Given the description of an element on the screen output the (x, y) to click on. 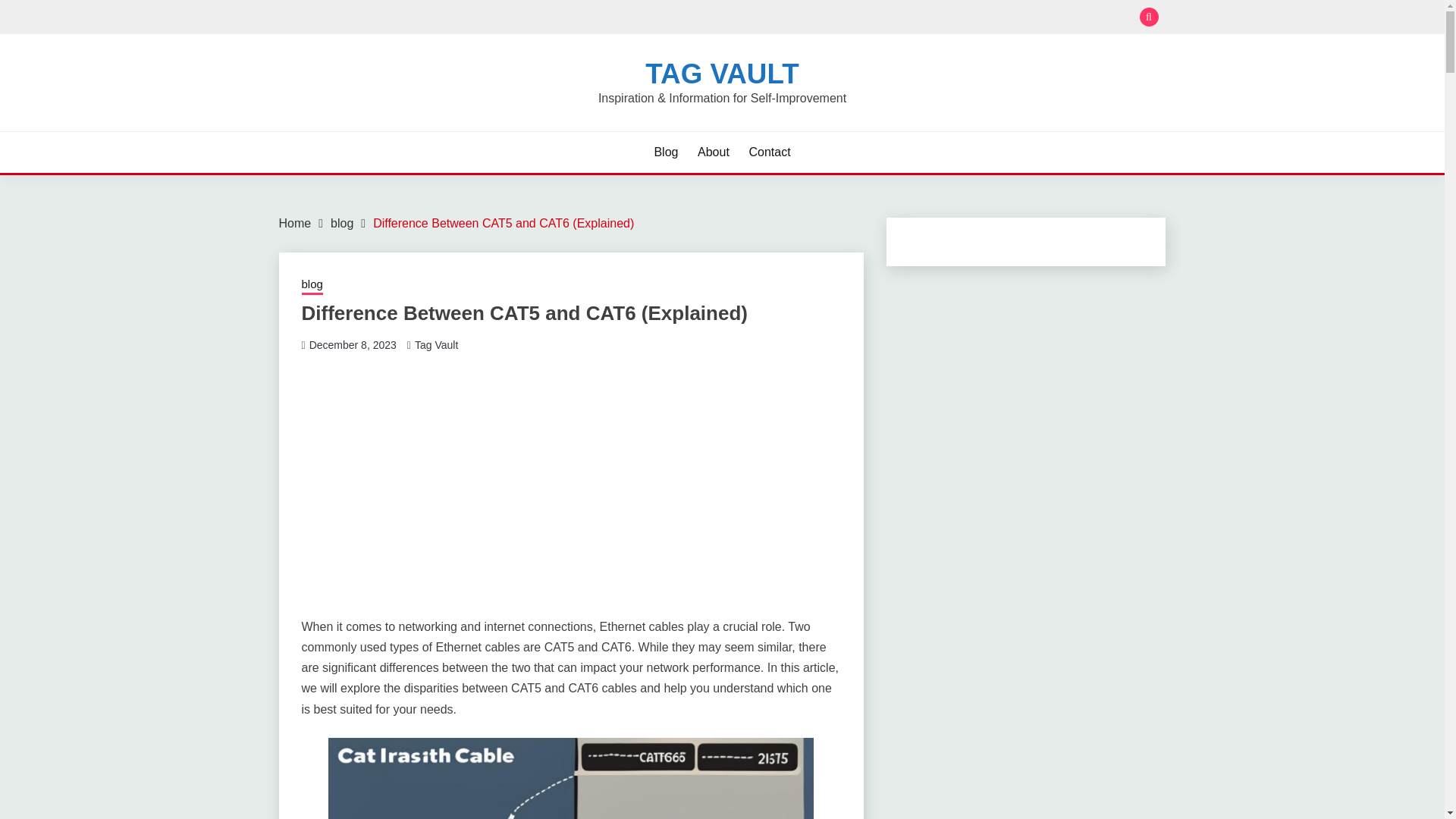
blog (341, 223)
About (713, 152)
TAG VAULT (721, 73)
blog (312, 285)
Search (832, 18)
Contact (769, 152)
Home (295, 223)
December 8, 2023 (352, 345)
Tag Vault (436, 345)
Blog (665, 152)
